Given the description of an element on the screen output the (x, y) to click on. 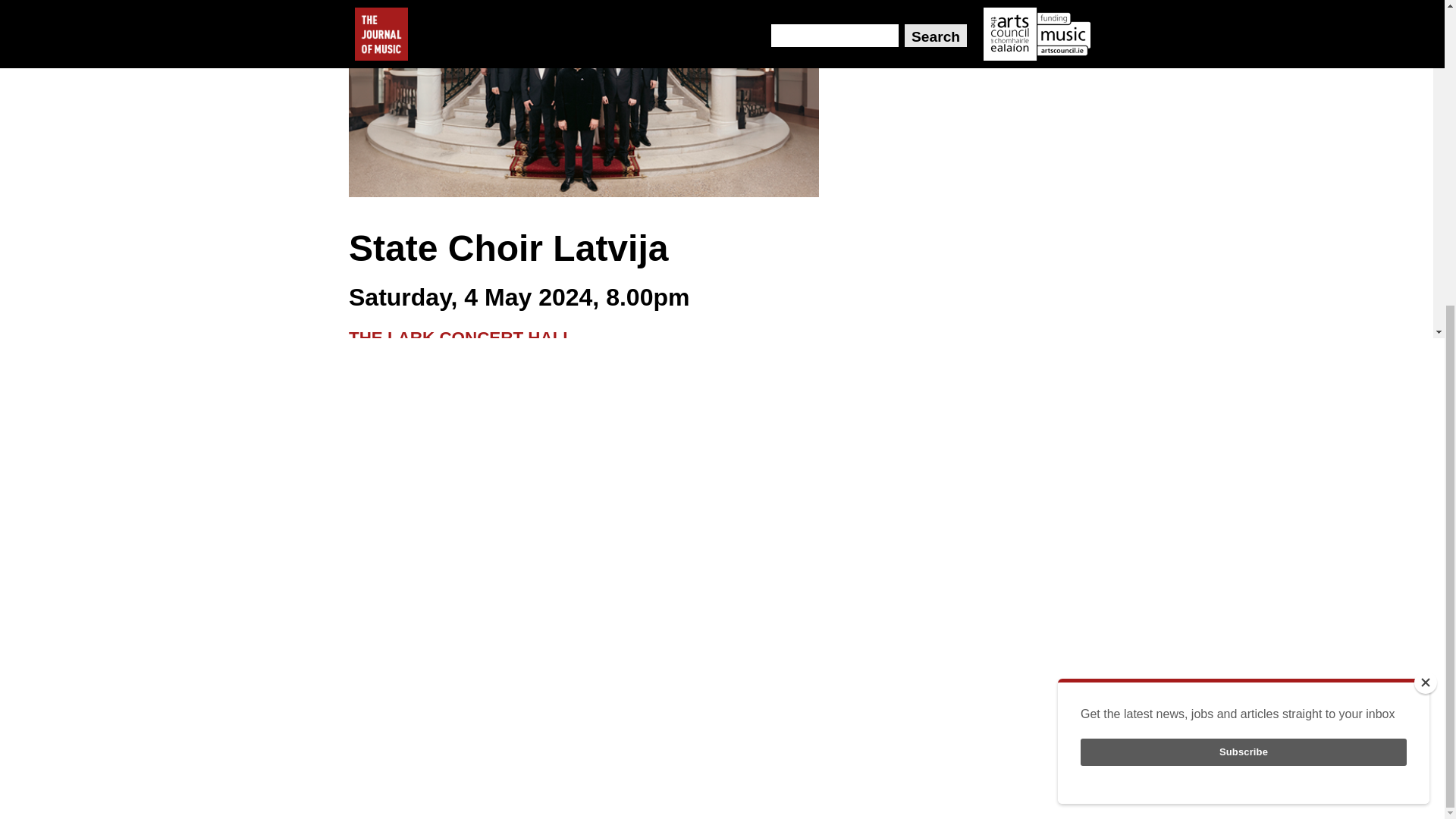
State Choir Latvija (583, 98)
